Given the description of an element on the screen output the (x, y) to click on. 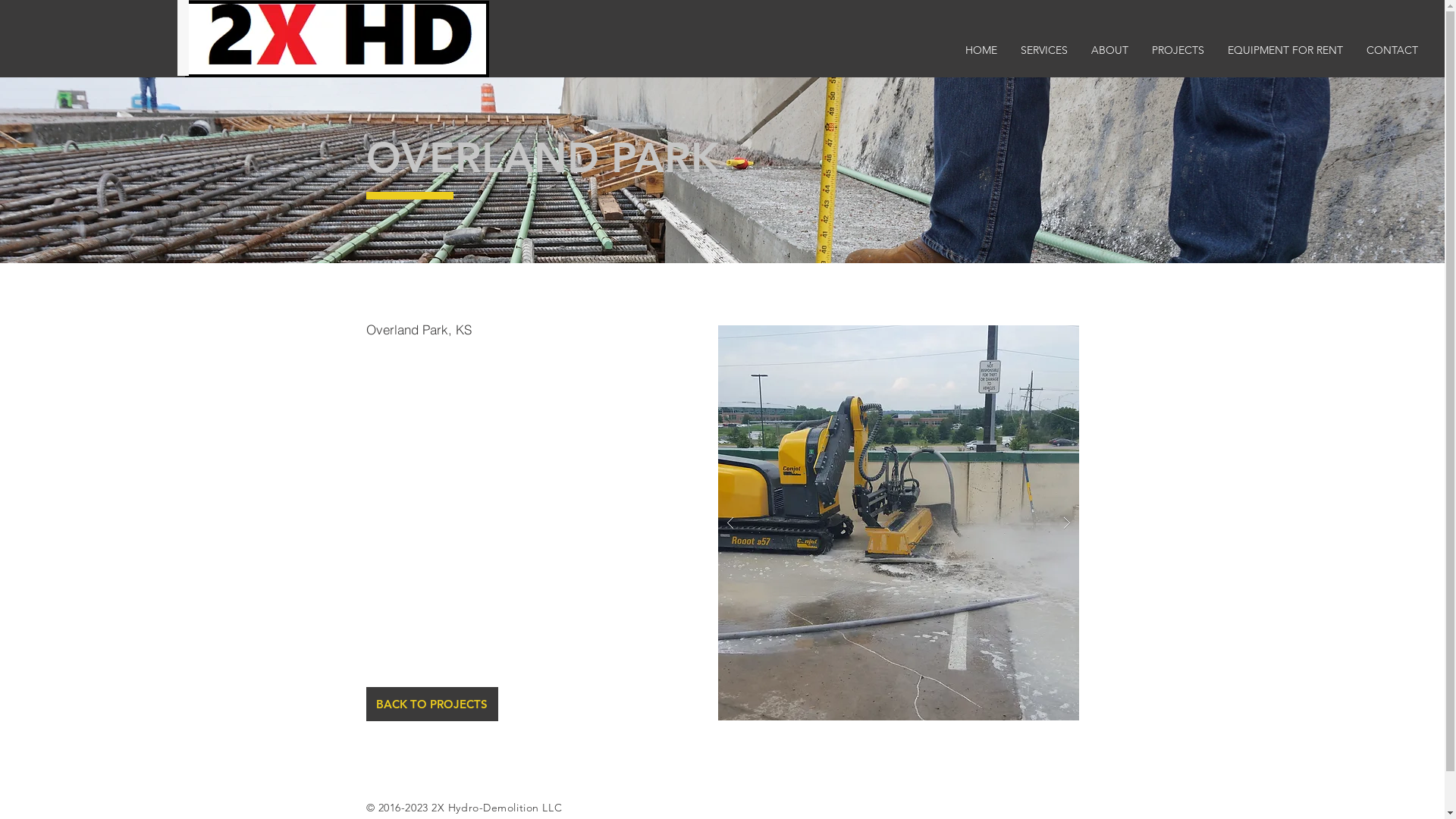
EQUIPMENT FOR RENT Element type: text (1284, 50)
ABOUT Element type: text (1109, 50)
SERVICES Element type: text (1043, 50)
HOME Element type: text (980, 50)
2X Hydro-Demolition Element type: hover (337, 38)
CONTACT Element type: text (1391, 50)
PROJECTS Element type: text (1177, 50)
BACK TO PROJECTS Element type: text (431, 704)
